Given the description of an element on the screen output the (x, y) to click on. 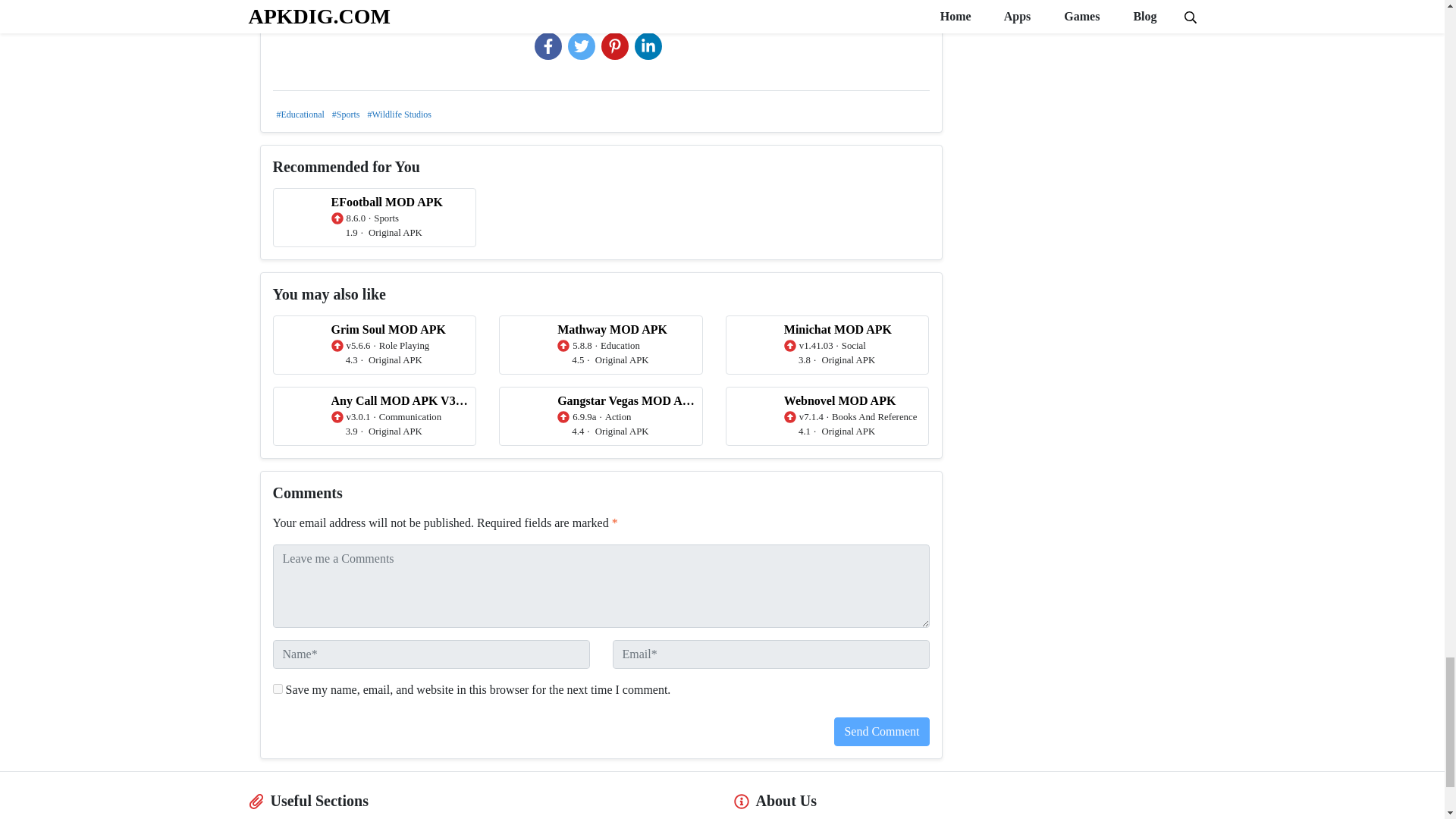
Sports tag (346, 114)
yes (277, 688)
Send Comment (881, 731)
Gangstar Vegas MOD APK (601, 415)
Grim Soul MOD APK (375, 344)
Webnovel MOD APK (827, 415)
EFootball MOD APK (375, 217)
Mathway MOD APK (601, 344)
Minichat MOD APK (827, 344)
Educational tag (301, 114)
Wildlife Studios tag (399, 114)
